Given the description of an element on the screen output the (x, y) to click on. 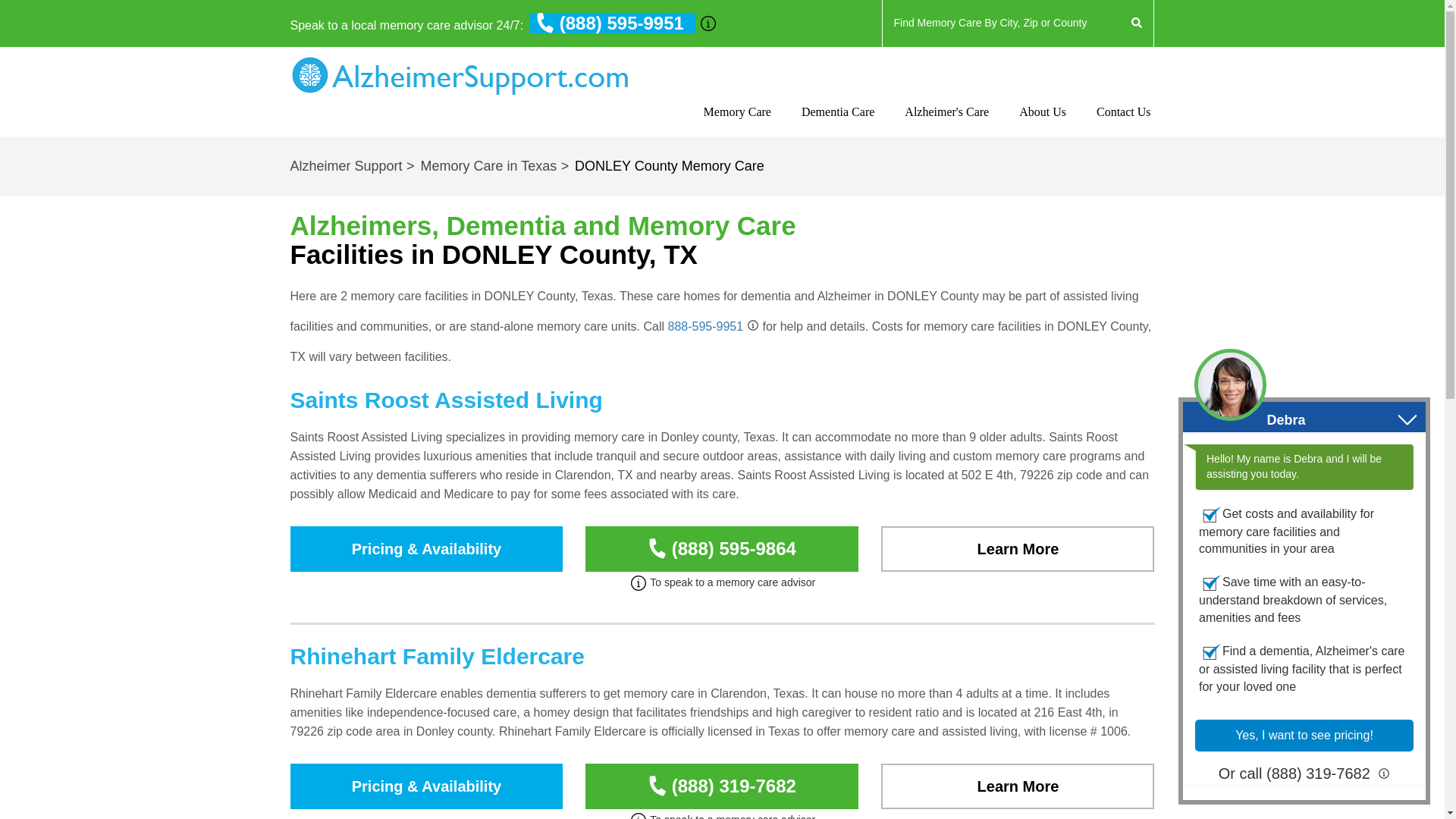
Dementia Care (838, 124)
Alzheimer's Care (946, 124)
888-595-9951 (704, 326)
Contact Us (1042, 124)
Learn More (1017, 786)
Memory Care (737, 124)
Learn More (1017, 549)
Dementia Care (838, 124)
Alzheimer Support (352, 165)
Contact Us (1123, 124)
Alzheimer's Care (946, 124)
Contact Us (1123, 124)
Learn More (1017, 786)
Memory Care (737, 124)
Memory Care in Texas (496, 165)
